Given the description of an element on the screen output the (x, y) to click on. 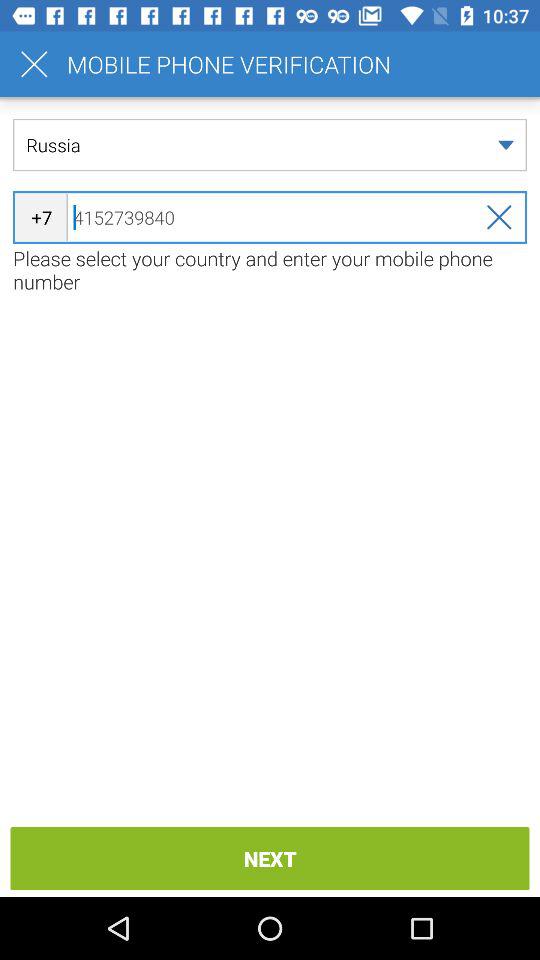
scroll to russia item (269, 144)
